Given the description of an element on the screen output the (x, y) to click on. 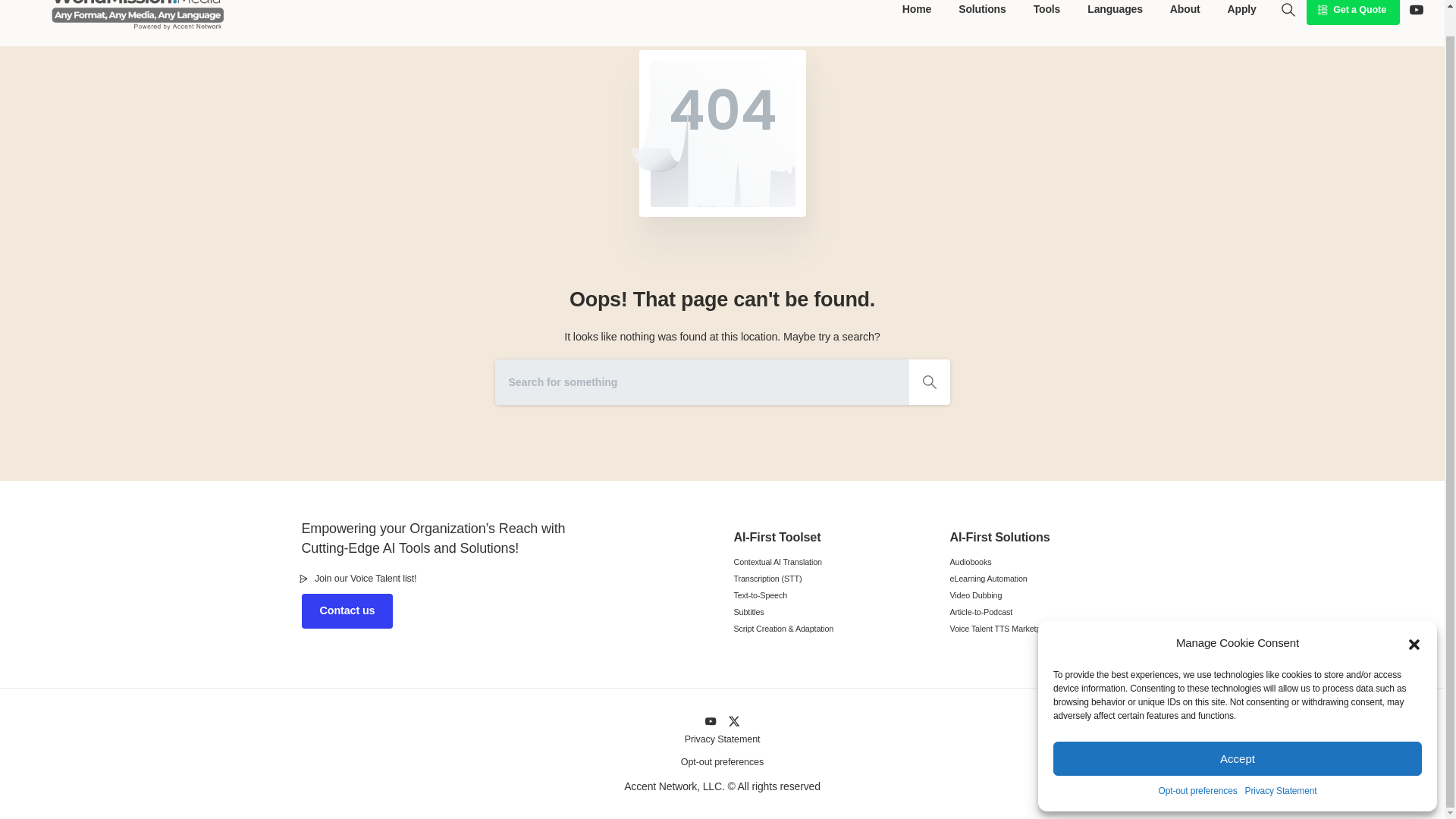
Audiobooks (1045, 561)
Languages (1114, 12)
Accept (1237, 731)
Tools (1047, 12)
Privacy Statement (1280, 764)
Video Dubbing (1045, 594)
Opt-out preferences (1197, 764)
Get a Quote (1352, 12)
Search (1287, 9)
Article-to-Podcast (1045, 611)
Solutions (981, 12)
Apply (1241, 12)
About (1185, 12)
YouTube (1416, 9)
Text-to-Speech (830, 594)
